Given the description of an element on the screen output the (x, y) to click on. 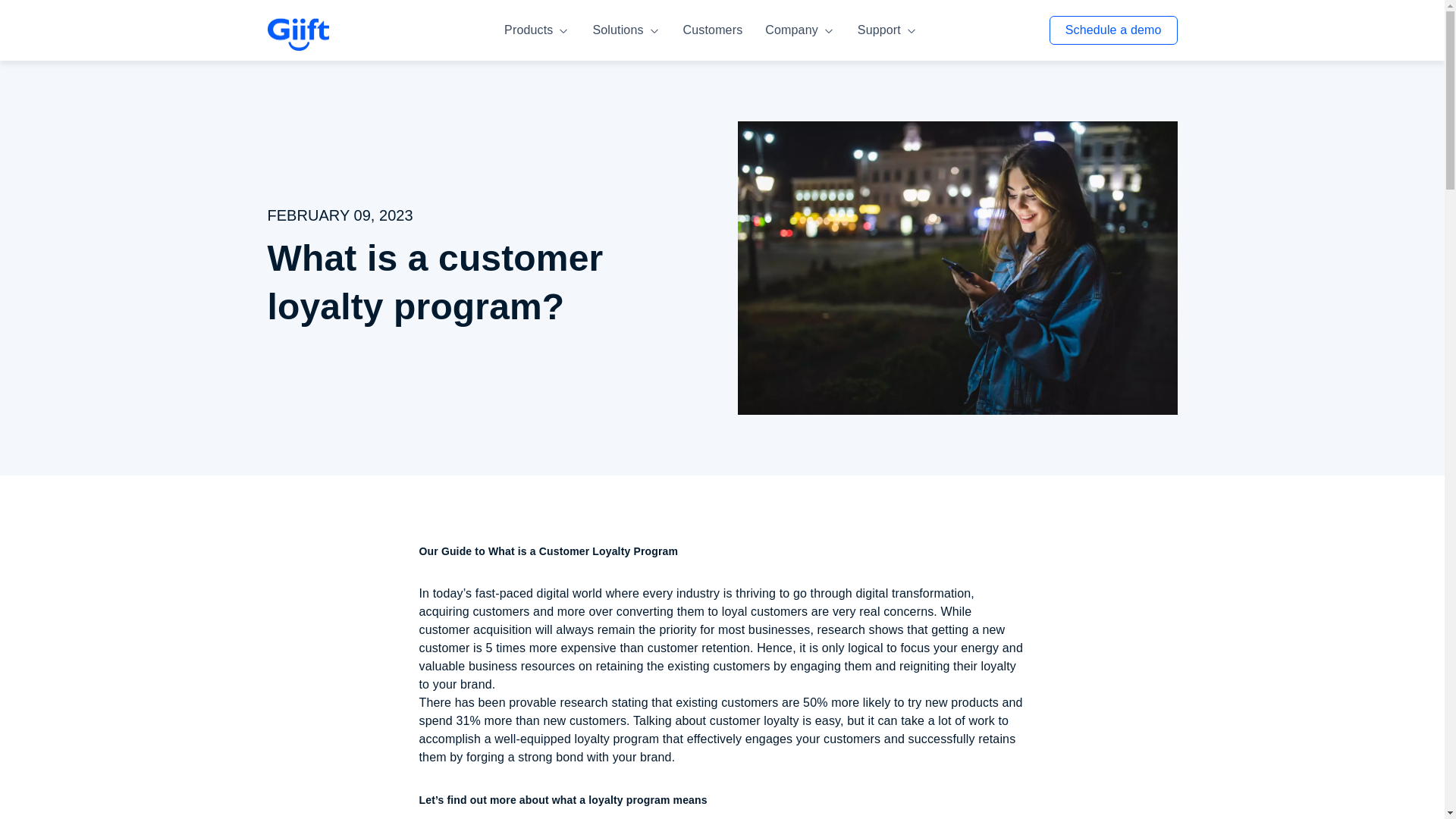
Customers (710, 30)
